Given the description of an element on the screen output the (x, y) to click on. 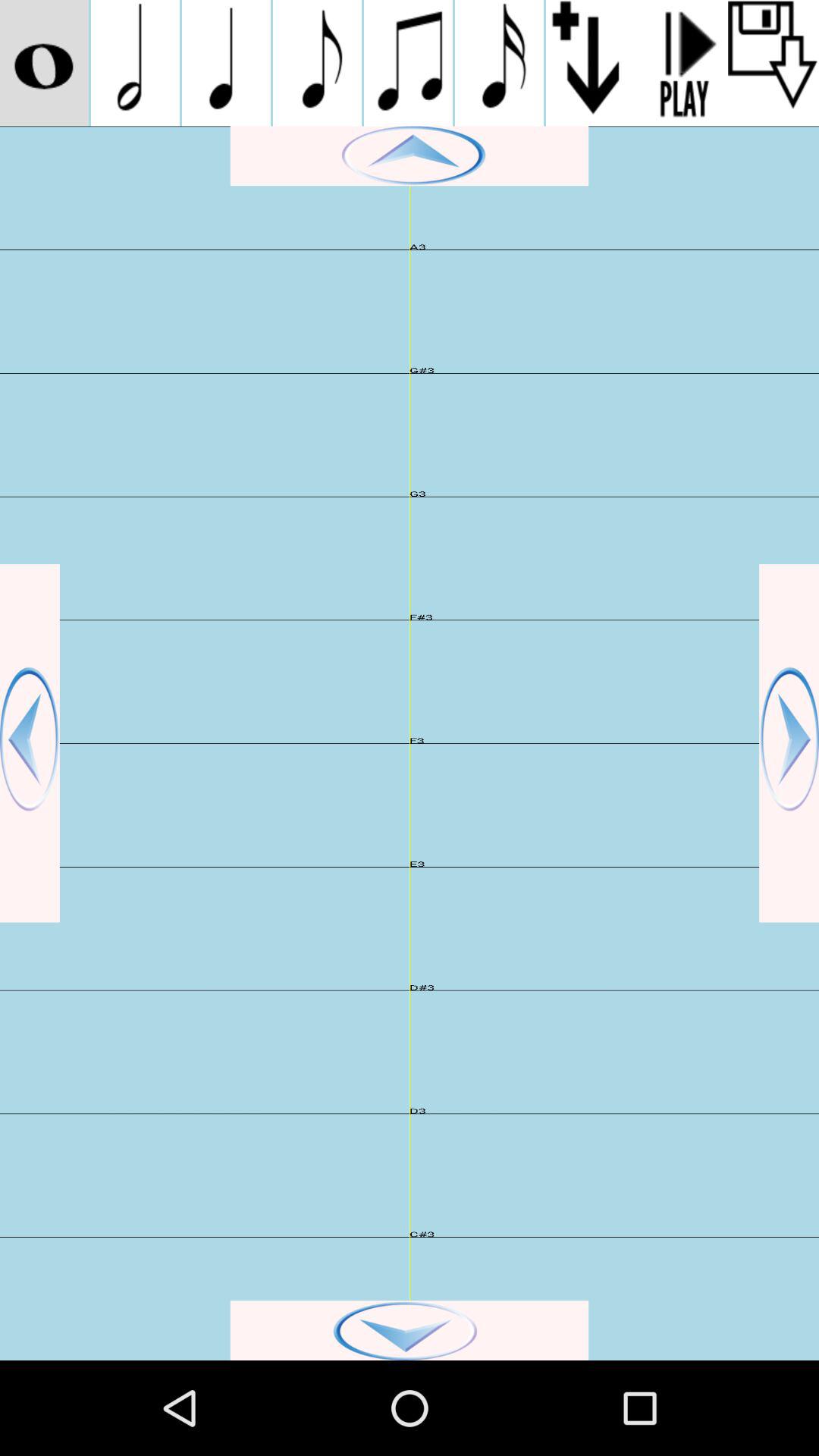
save audio (773, 63)
